Given the description of an element on the screen output the (x, y) to click on. 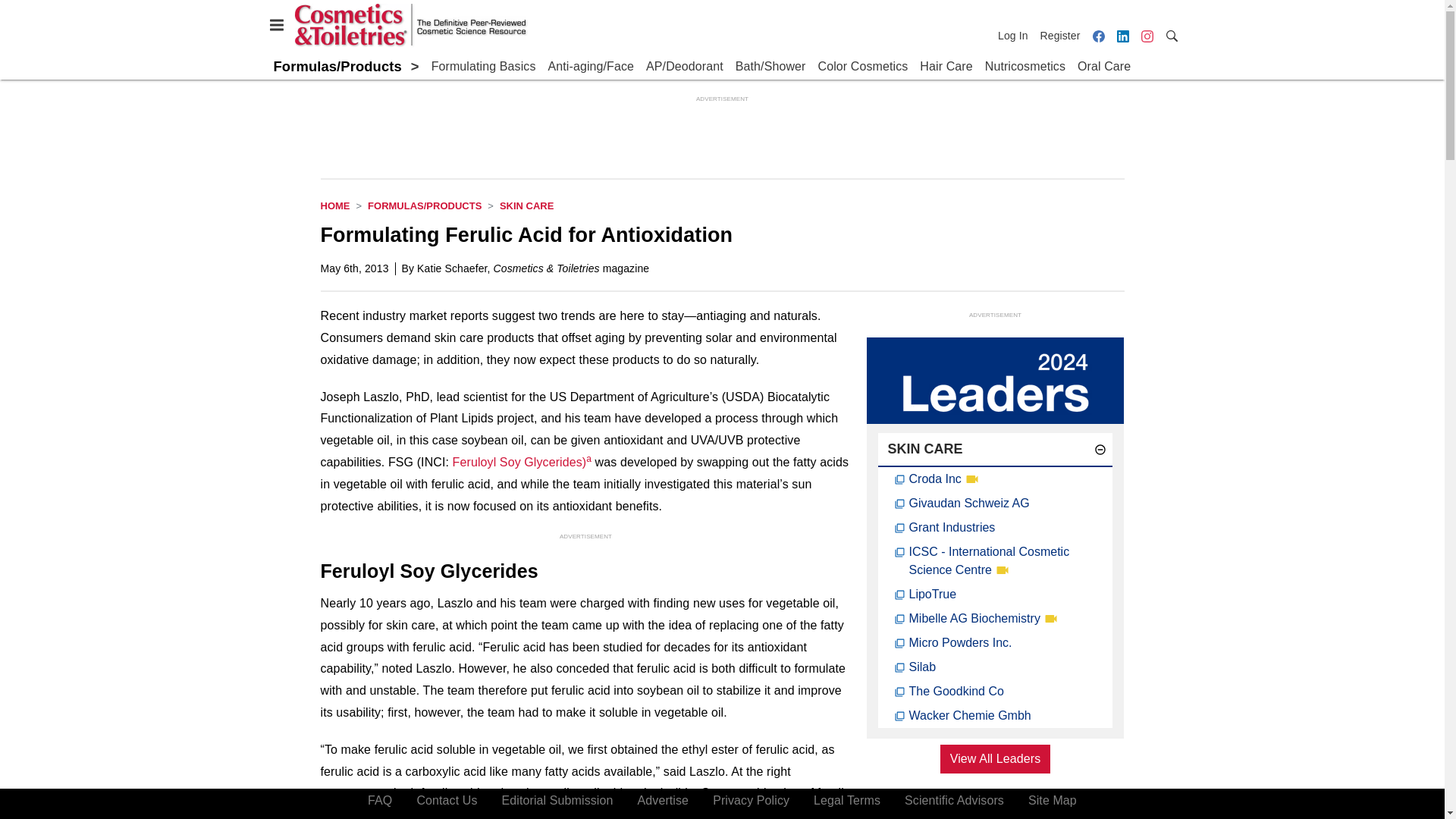
LinkedIn icon (1122, 36)
Search (1170, 34)
Instagram icon (1146, 36)
Facebook icon (1097, 36)
